Given the description of an element on the screen output the (x, y) to click on. 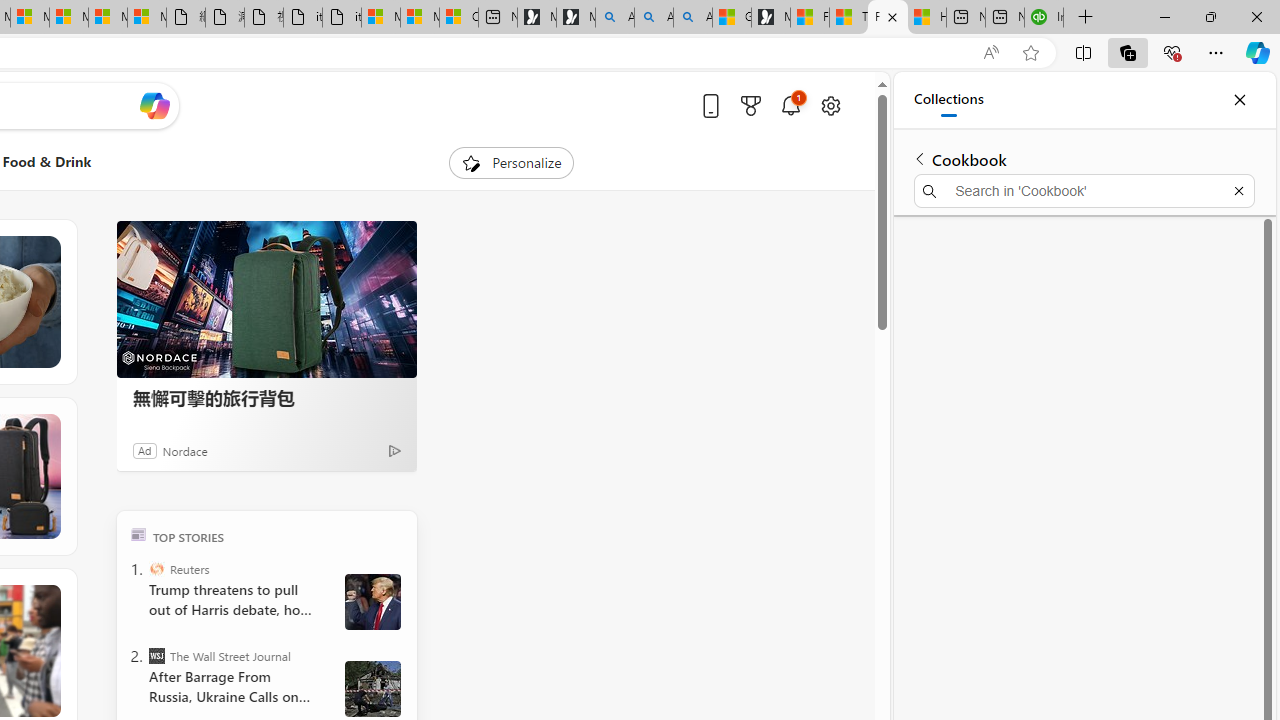
Collections (1128, 52)
Personalize (511, 162)
Open Copilot (155, 105)
Reuters (156, 568)
itconcepthk.com/projector_solutions.mp4 (341, 17)
Copilot (Ctrl+Shift+.) (1258, 52)
Settings and more (Alt+F) (1215, 52)
Browser essentials (1171, 52)
Intuit QuickBooks Online - Quickbooks (1044, 17)
